Given the description of an element on the screen output the (x, y) to click on. 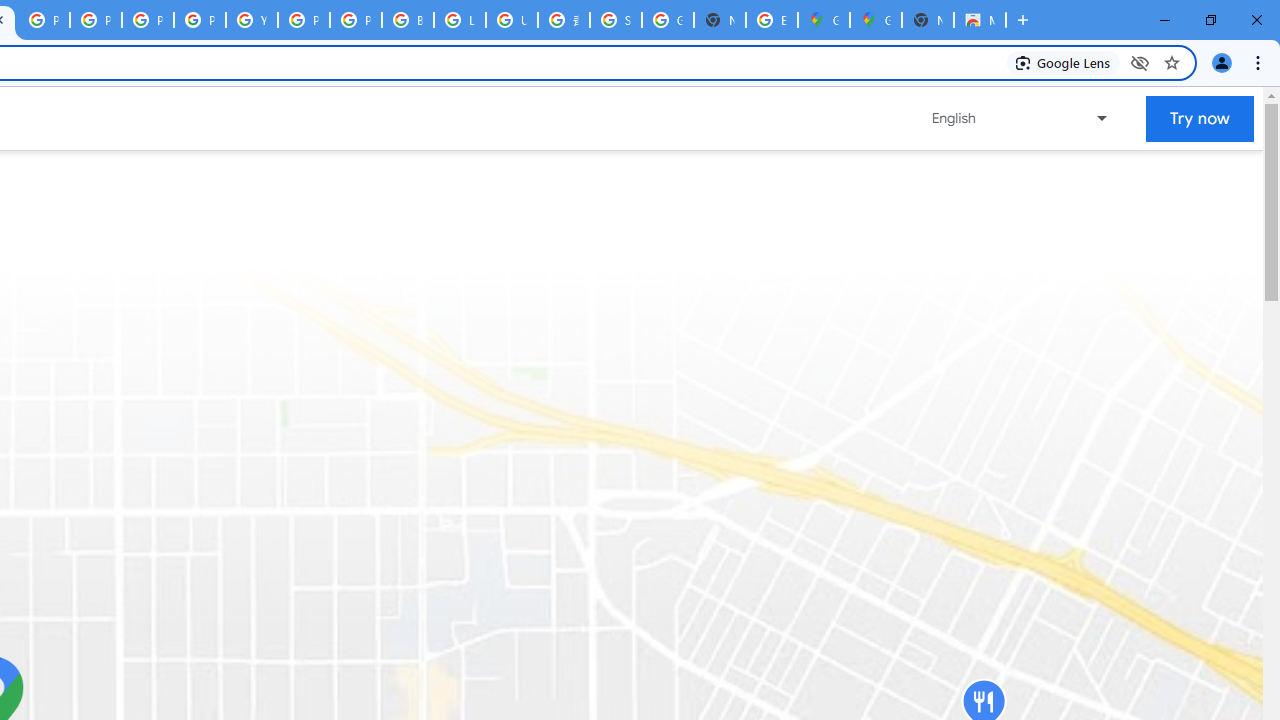
Google Maps (823, 20)
Privacy Help Center - Policies Help (147, 20)
Search with Google Lens (1063, 62)
New Tab (927, 20)
YouTube (251, 20)
Explore new street-level details - Google Maps Help (771, 20)
Change language or region (1021, 117)
